Given the description of an element on the screen output the (x, y) to click on. 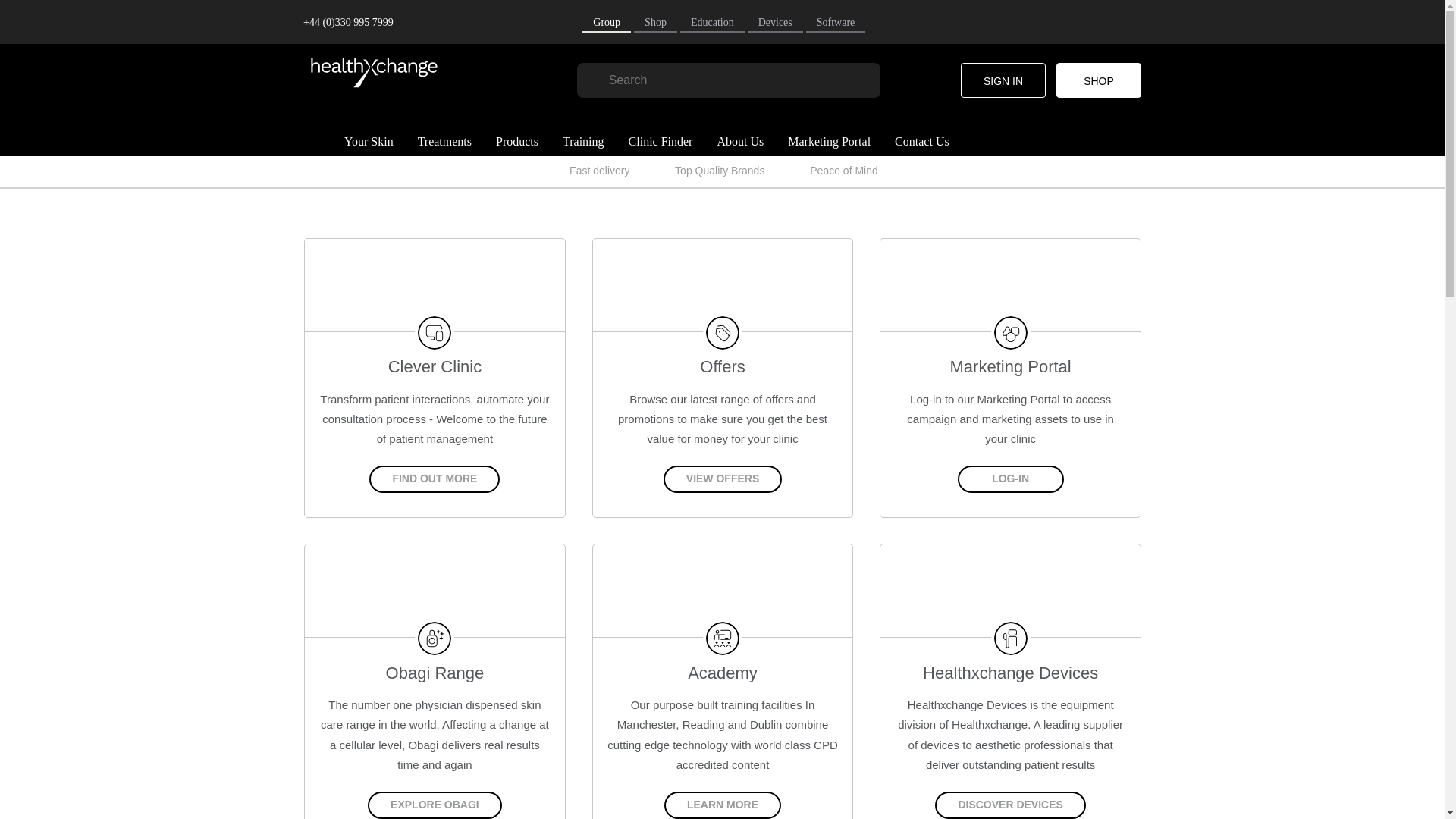
Devices (775, 22)
Clinic Finder (660, 141)
Group (606, 22)
Training (582, 141)
SHOP (1099, 80)
Your Skin (368, 141)
Shop (655, 22)
Products (516, 141)
SIGN IN (1002, 80)
Education (711, 22)
